Given the description of an element on the screen output the (x, y) to click on. 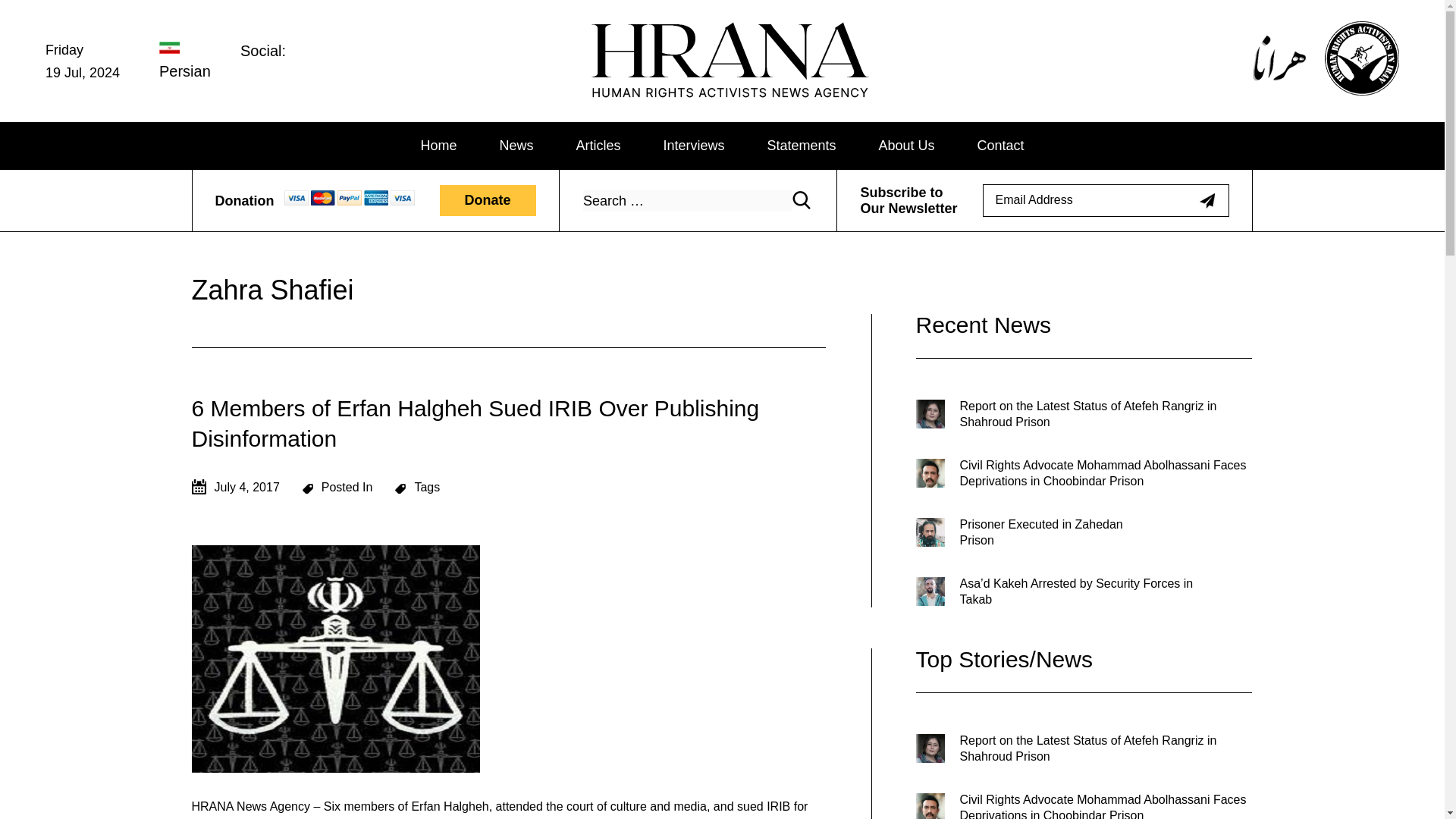
Sign up (1207, 200)
Sign up (1207, 200)
July 4, 2017 (234, 486)
Interviews (693, 145)
Contact (1000, 145)
Home (437, 145)
Search (801, 199)
News (515, 145)
Donate (487, 201)
Search (801, 199)
Hrana (636, 103)
Statements (801, 145)
Search (801, 199)
Articles (598, 145)
